Given the description of an element on the screen output the (x, y) to click on. 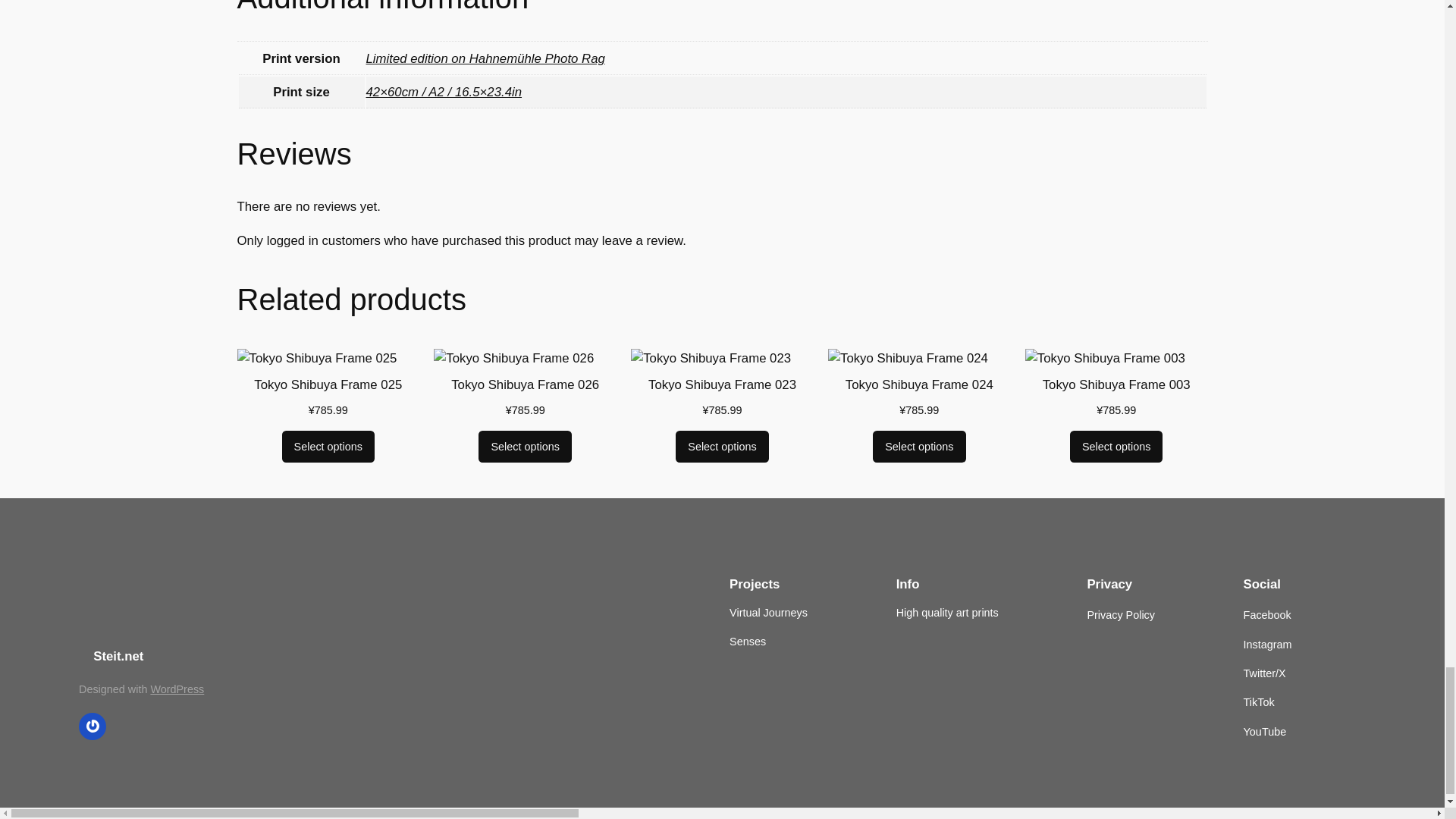
Select options (524, 446)
Select options (328, 446)
